Given the description of an element on the screen output the (x, y) to click on. 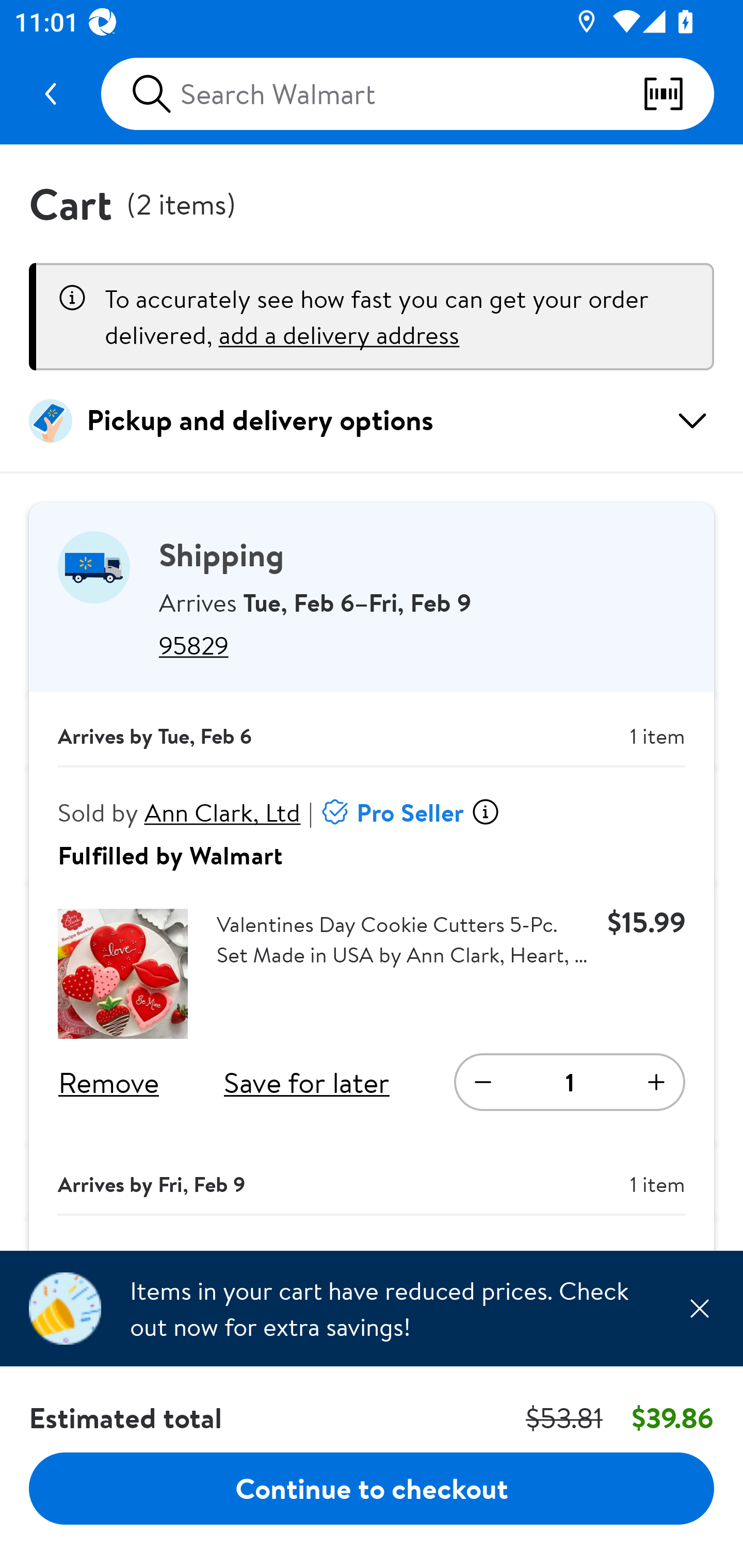
Navigate up (50, 93)
Search Walmart Opens barcode scanner (407, 94)
Opens barcode scanner (677, 94)
95829 (422, 645)
Sold by Ann Clark, Ltd (178, 811)
Info for Pro Seller (485, 812)
Item image (122, 973)
Close (699, 1308)
Continue to checkout (371, 1487)
